Given the description of an element on the screen output the (x, y) to click on. 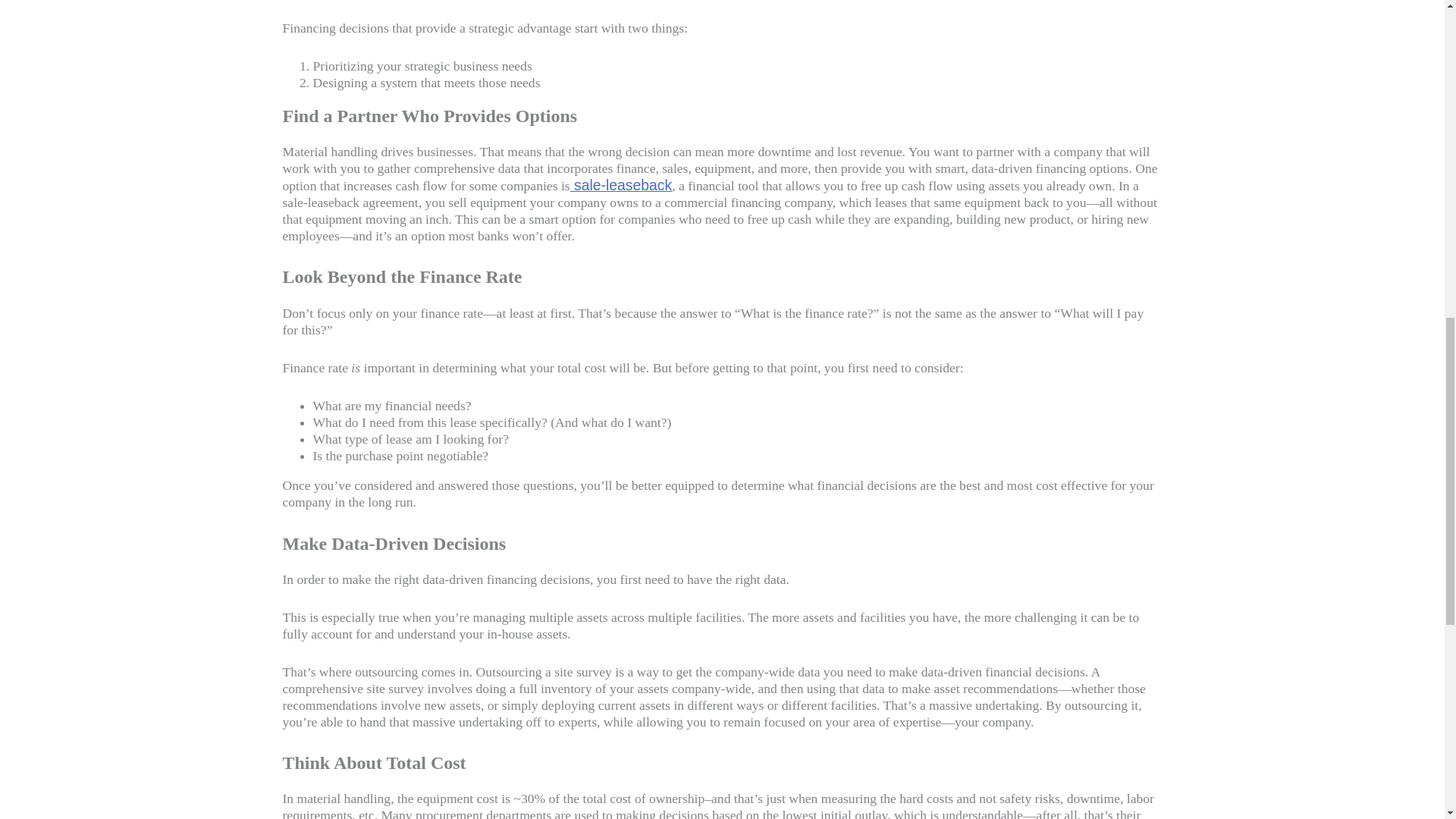
sale-leaseback (621, 184)
